Given the description of an element on the screen output the (x, y) to click on. 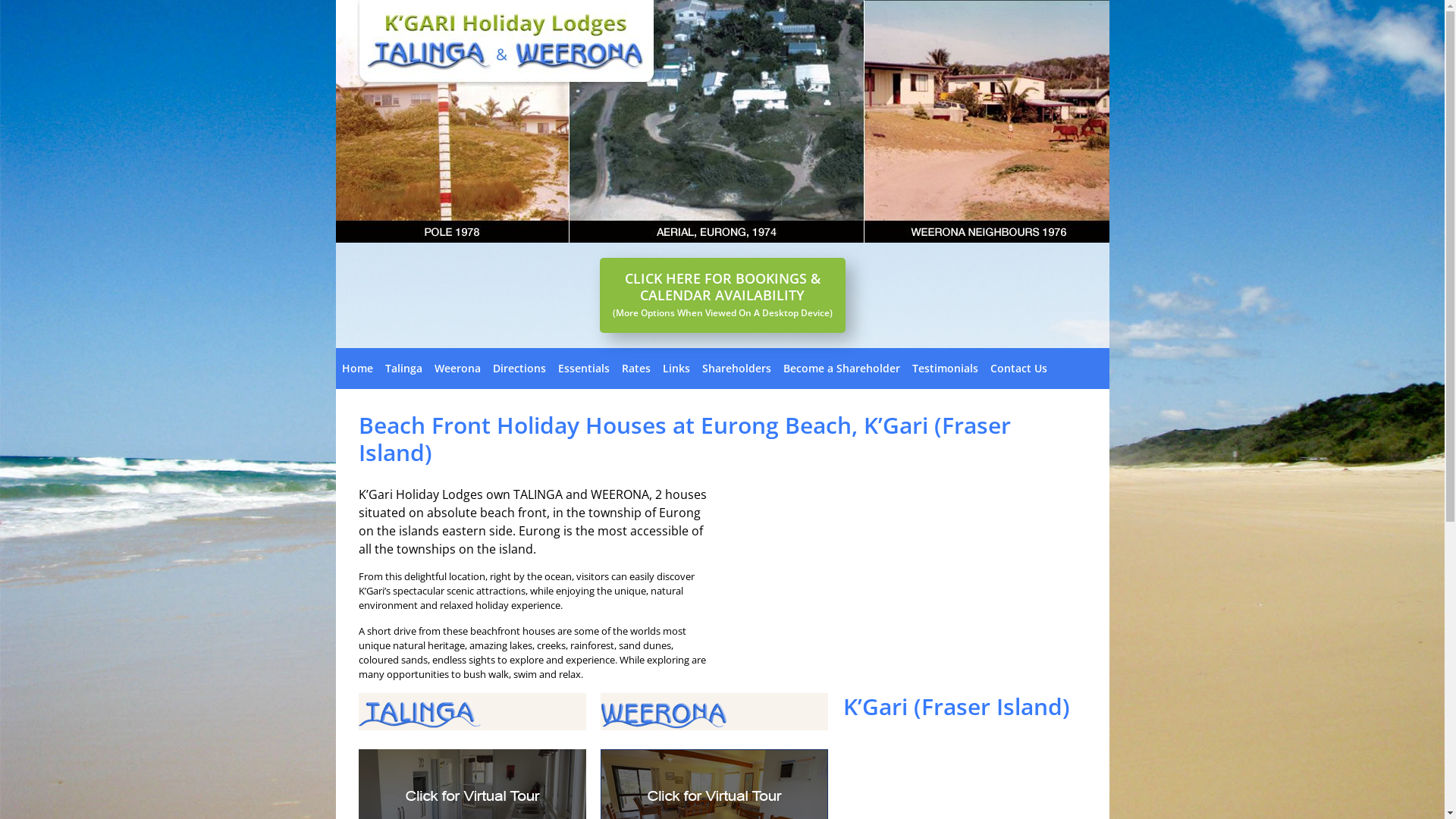
Contact Us Element type: text (1018, 368)
Become a Shareholder Element type: text (840, 368)
Weerona Element type: text (456, 368)
Home Element type: text (356, 368)
Talinga Element type: text (403, 368)
Essentials Element type: text (583, 368)
Directions Element type: text (519, 368)
Testimonials Element type: text (944, 368)
Links Element type: text (676, 368)
Rates Element type: text (635, 368)
View Accommodation Details Element type: hover (471, 726)
Shareholders Element type: text (736, 368)
View Accommodation Details Element type: hover (714, 726)
